Given the description of an element on the screen output the (x, y) to click on. 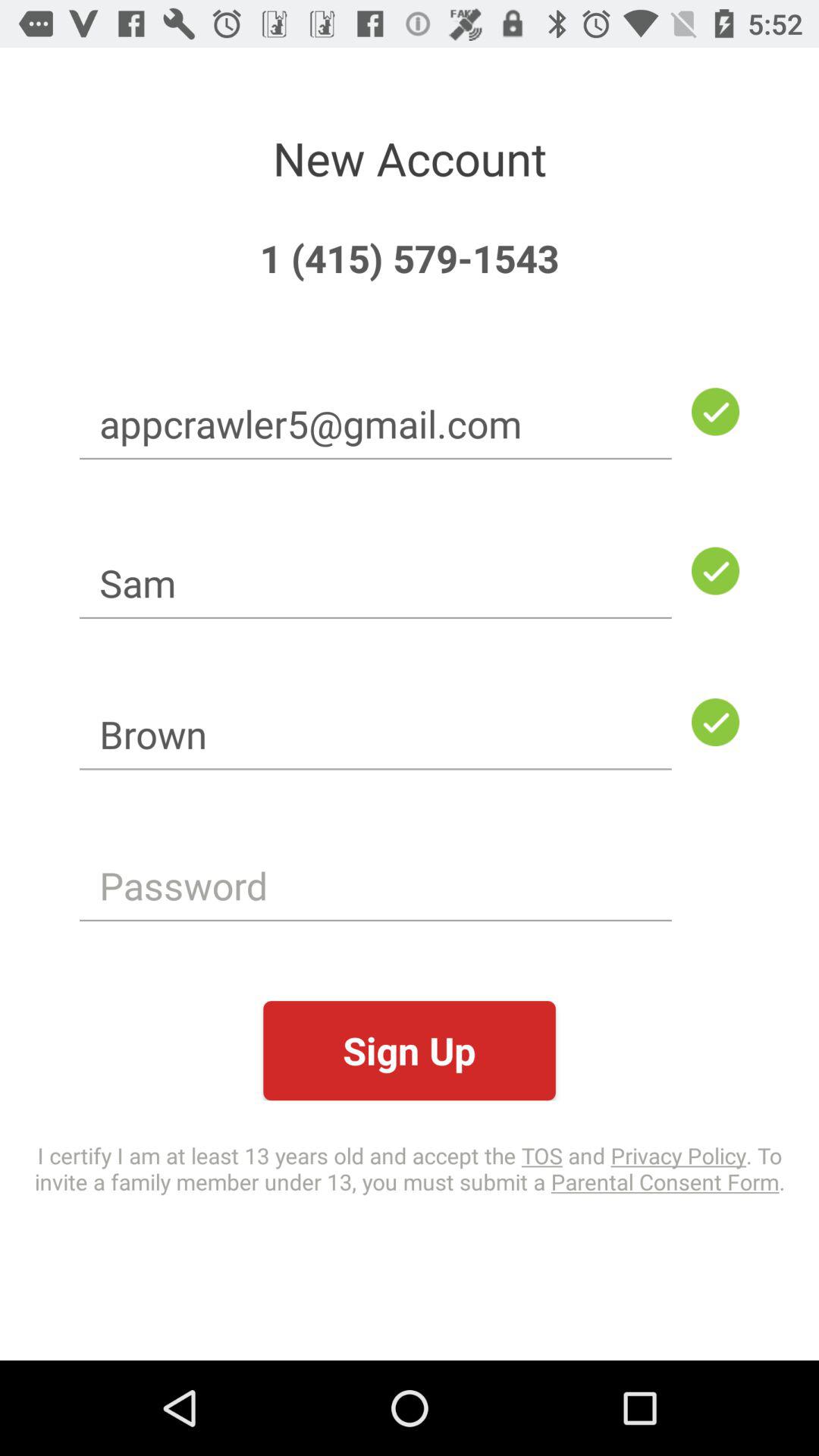
choose the icon above sam item (375, 423)
